Given the description of an element on the screen output the (x, y) to click on. 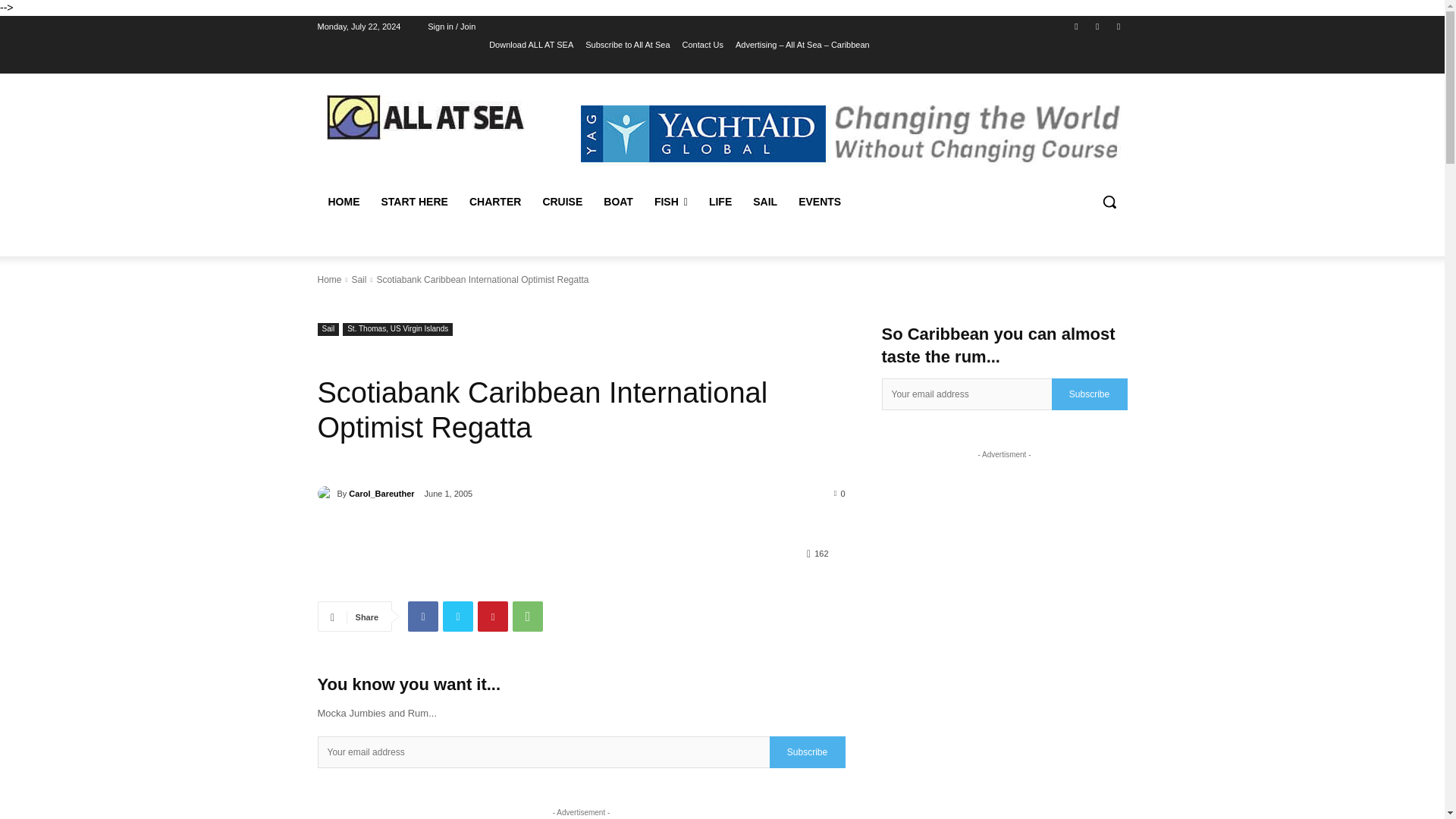
HOME (343, 201)
Facebook (422, 616)
SAIL (764, 201)
Facebook (1075, 27)
Pinterest (492, 616)
Twitter (1117, 27)
EVENTS (819, 201)
View all posts in Sail (358, 279)
FISH (670, 201)
BOAT (617, 201)
LIFE (720, 201)
WhatsApp (527, 616)
Instagram (1097, 27)
START HERE (413, 201)
CRUISE (561, 201)
